Given the description of an element on the screen output the (x, y) to click on. 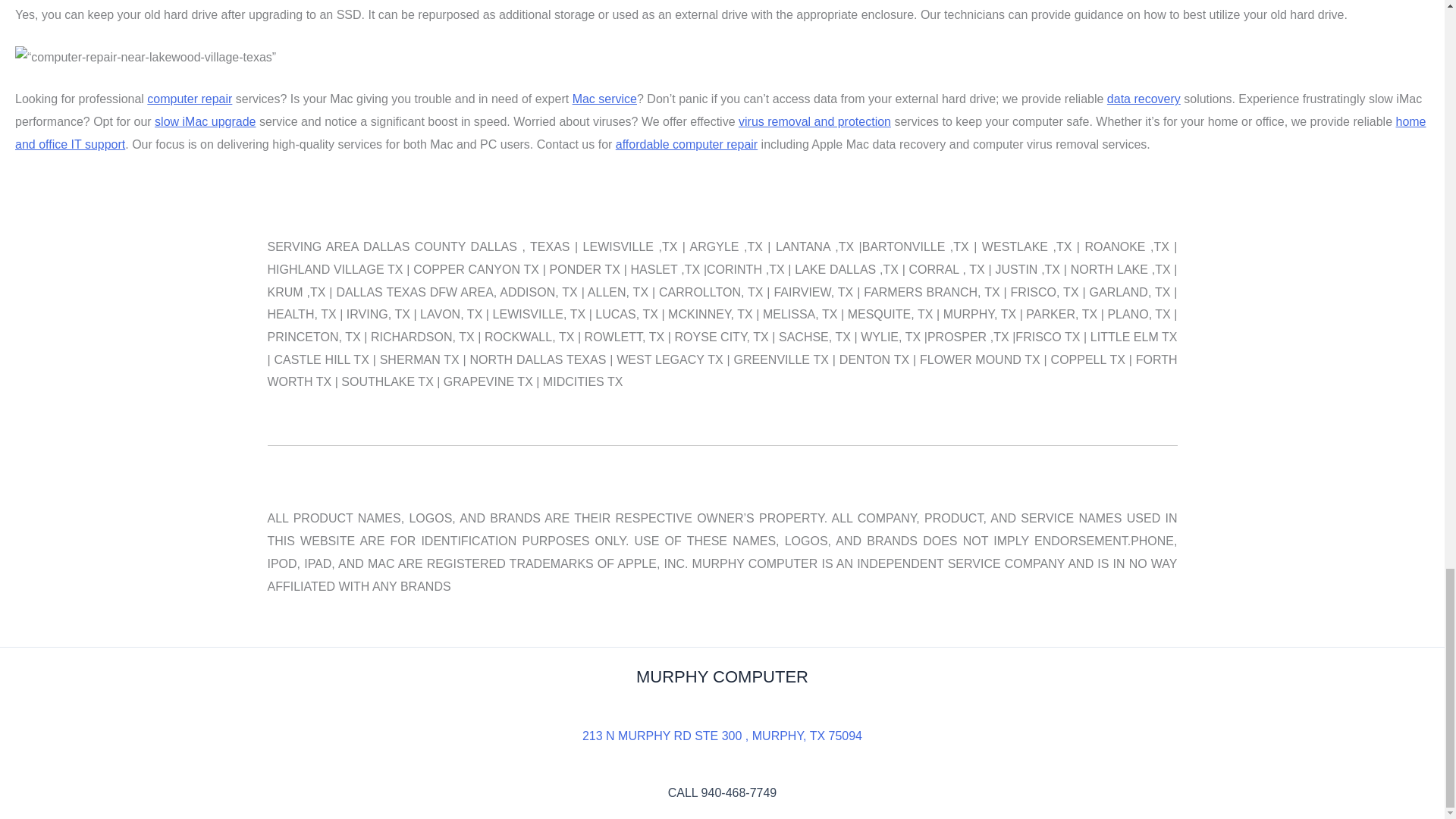
213 N MURPHY RD STE 300 , MURPHY, TX 75094 (721, 735)
Mac service (604, 98)
data recovery (1143, 98)
computer repair (189, 98)
home and office IT support (720, 132)
slow iMac upgrade (205, 121)
virus removal and protection (814, 121)
affordable computer repair (686, 144)
